Given the description of an element on the screen output the (x, y) to click on. 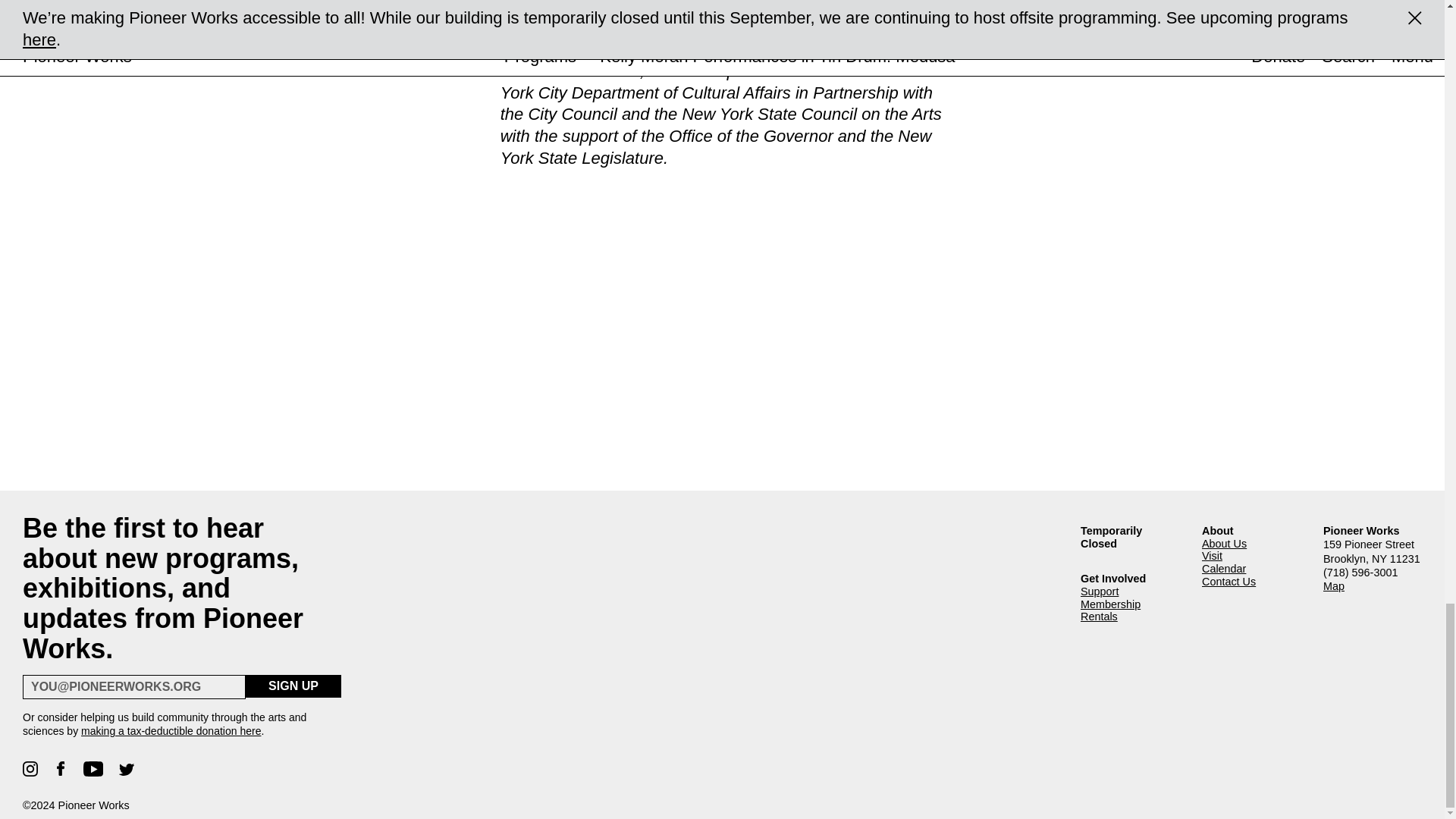
Calendar (1251, 568)
Map (1372, 585)
Support (1129, 591)
Membership (1129, 604)
making a tax-deductible donation here (170, 730)
SIGN UP (293, 685)
Rentals (1129, 616)
About Us (1251, 543)
Visit (1251, 555)
Contact Us (1251, 581)
